Given the description of an element on the screen output the (x, y) to click on. 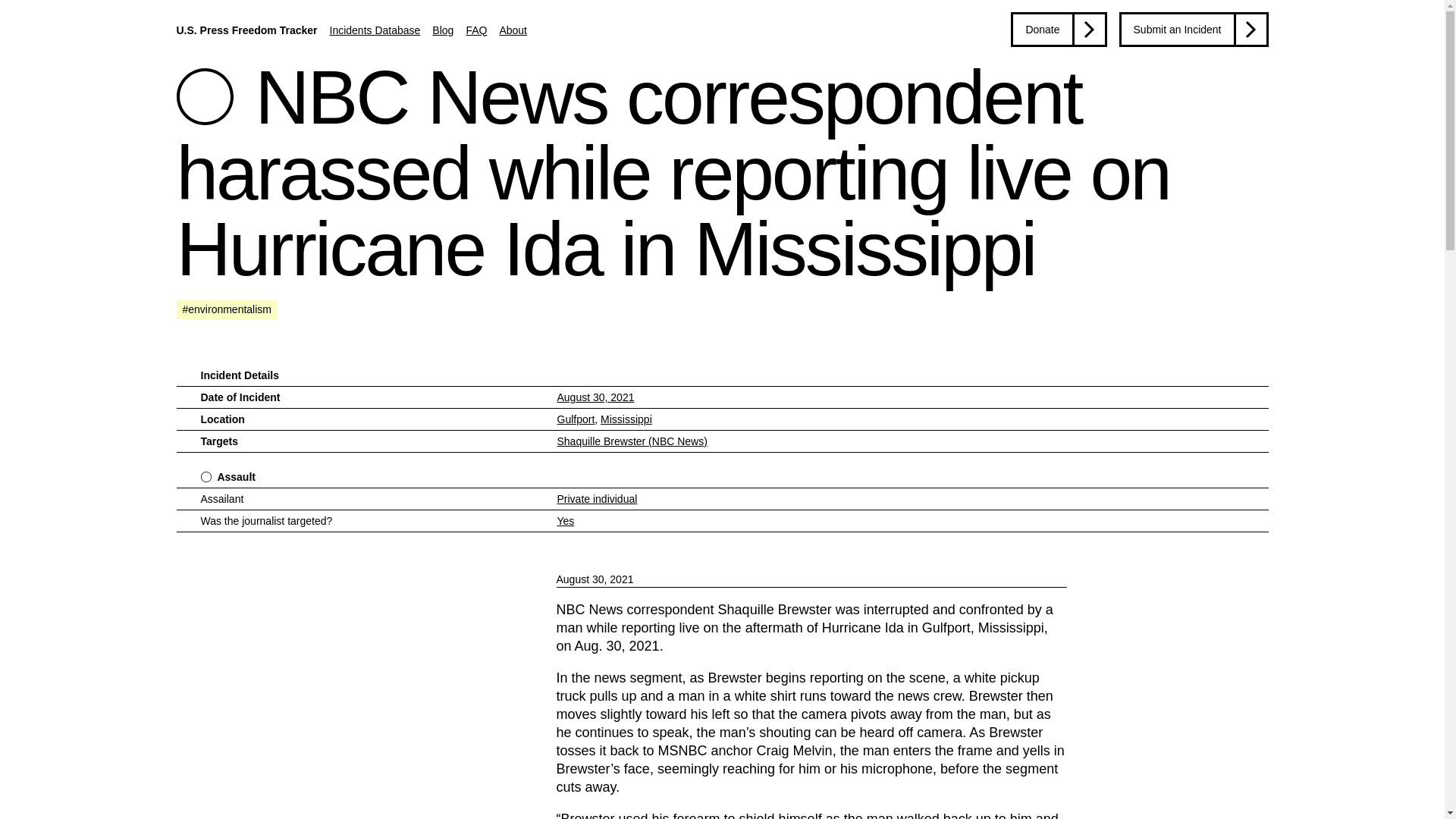
August 30, 2021 (811, 579)
Mississippi (625, 419)
About (513, 30)
Blog (442, 30)
Yes (564, 521)
August 30, 2021 (594, 397)
Gulfport (575, 419)
Assault (236, 476)
Donate (1058, 29)
U.S. Press Freedom Tracker (246, 30)
Private individual (596, 499)
FAQ (475, 30)
Submit an Incident (1193, 29)
Incidents Database (374, 30)
